Given the description of an element on the screen output the (x, y) to click on. 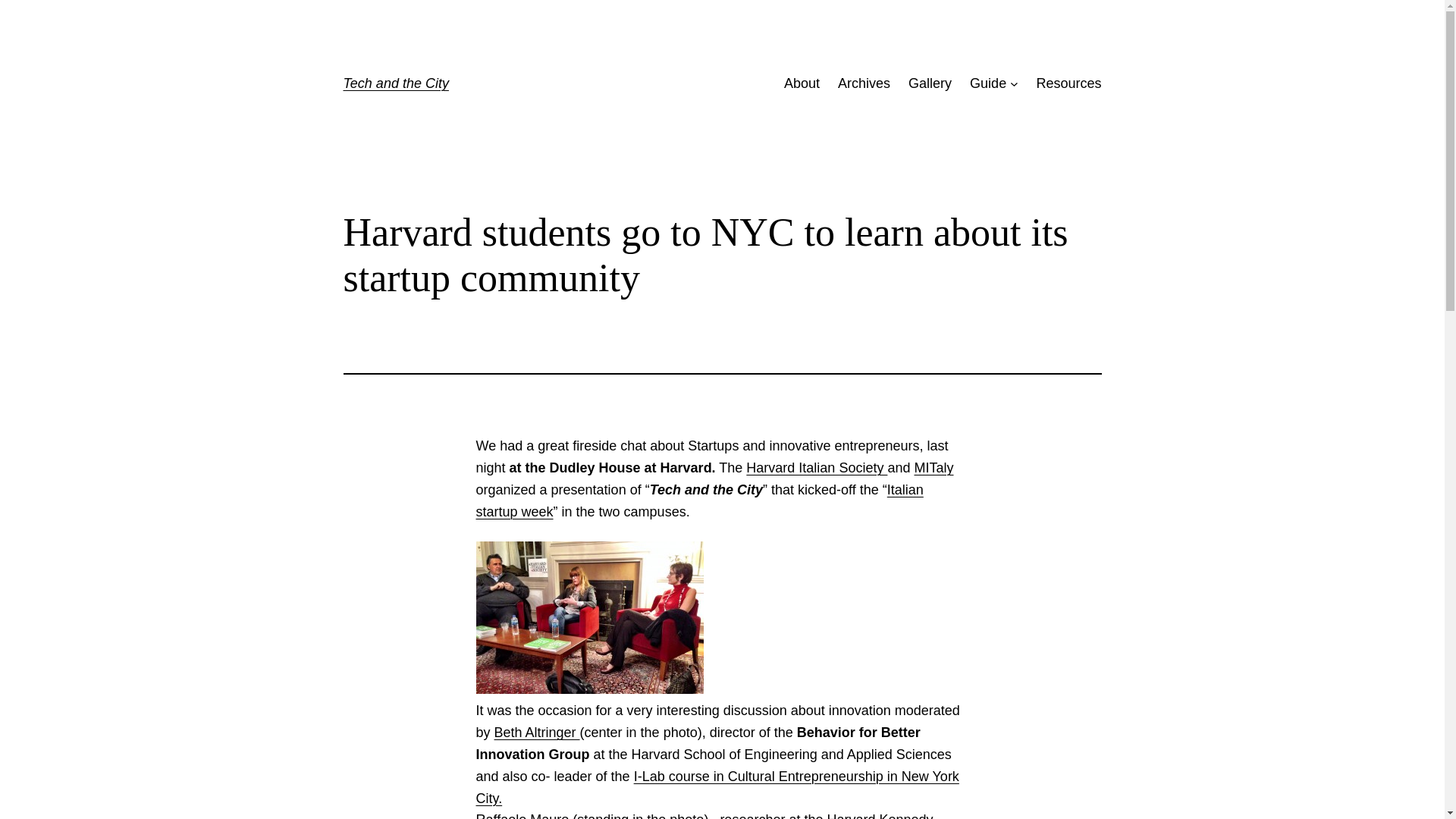
Beth Altringer (537, 732)
I-Lab course in Cultural Entrepreneurship in New York City. (717, 787)
About (801, 83)
Italian startup week (699, 500)
Resources (1067, 83)
Guide (987, 83)
Tech and the City (395, 83)
MITaly (933, 467)
Archives (863, 83)
Harvard Italian Society (815, 467)
